Given the description of an element on the screen output the (x, y) to click on. 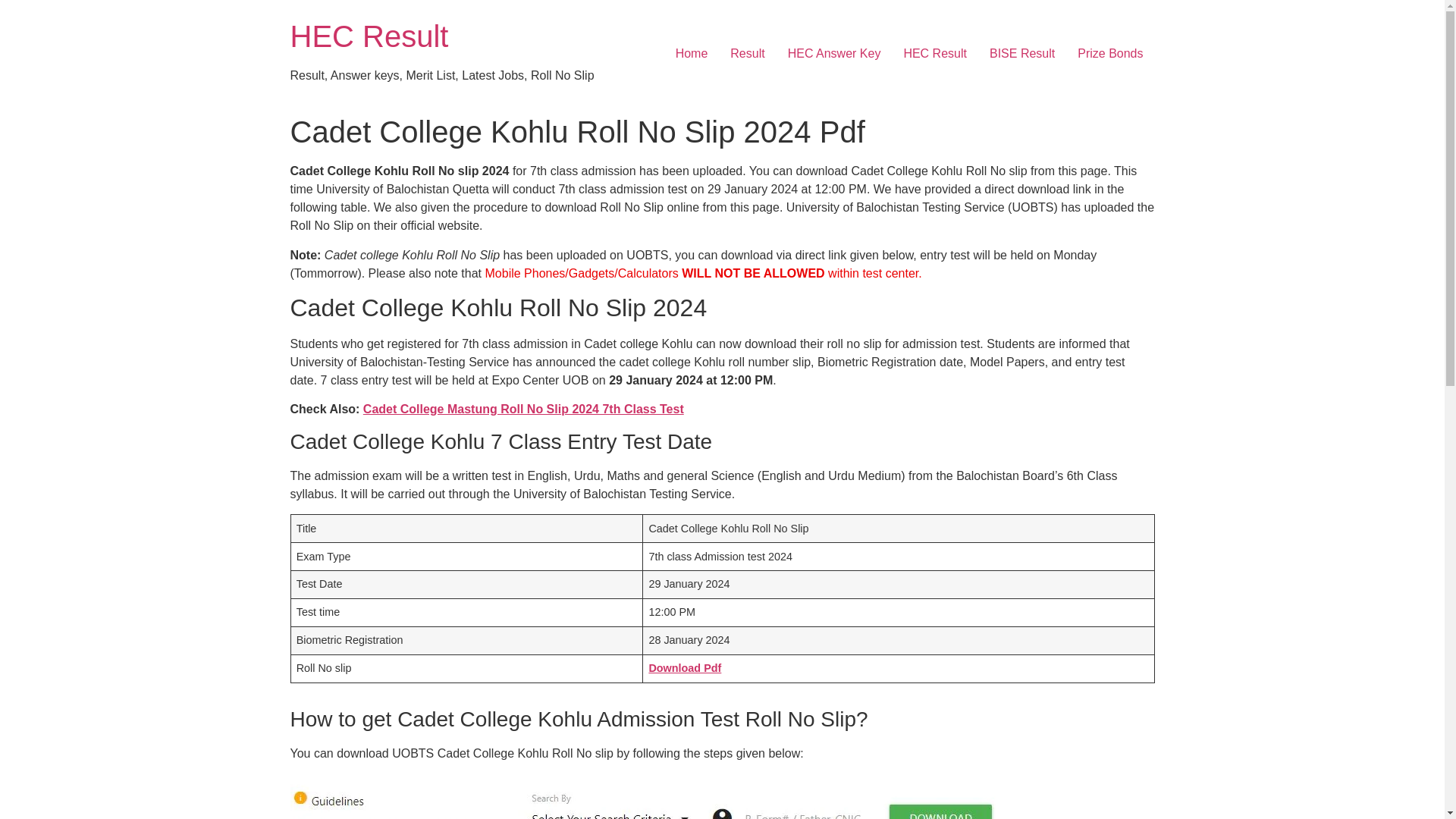
Home (691, 53)
HEC Answer Key (834, 53)
HEC Result (368, 36)
Result (747, 53)
BISE Result (1021, 53)
Download Pdf (683, 667)
HEC Result (934, 53)
Cadet College Mastung Roll No Slip 2024 7th Class Test (523, 408)
Home (368, 36)
Prize Bonds (1109, 53)
